Given the description of an element on the screen output the (x, y) to click on. 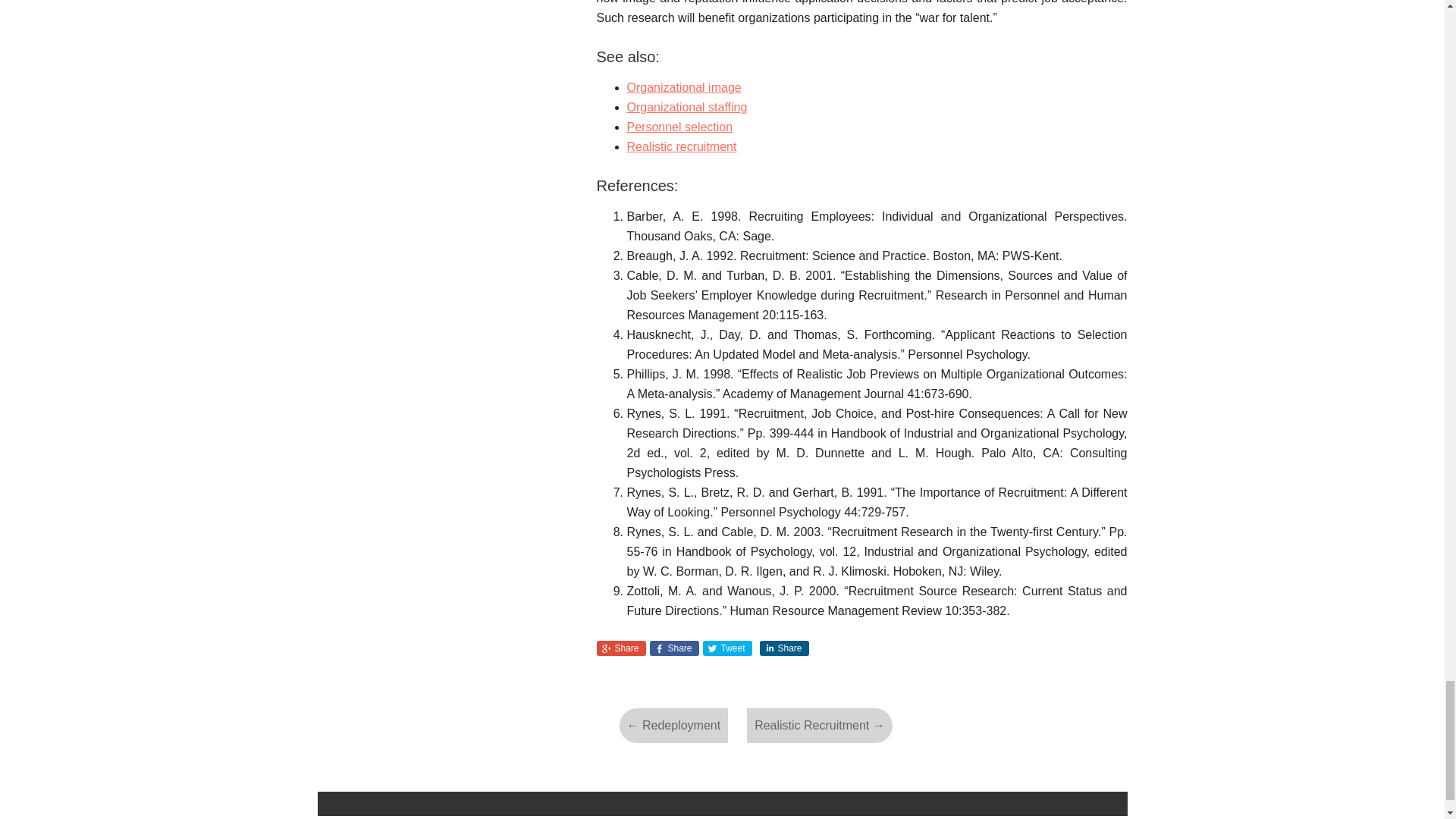
Organizational image (683, 87)
Share (673, 648)
Personnel selection (679, 126)
Tweet (726, 648)
Share (784, 648)
Realistic recruitment (681, 146)
Organizational staffing (686, 106)
Share (620, 648)
